Given the description of an element on the screen output the (x, y) to click on. 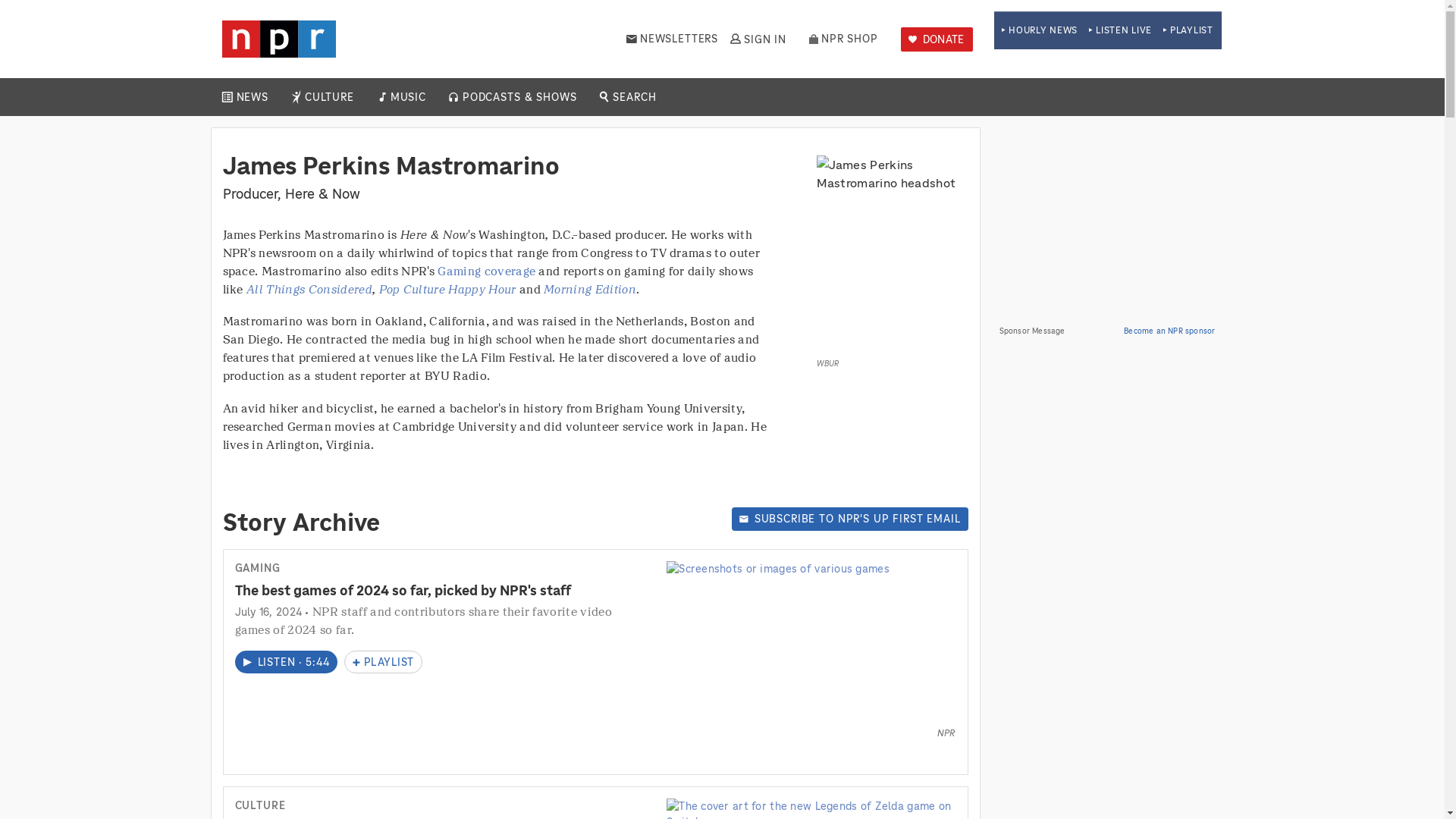
MUSIC (407, 96)
PLAYLIST (1187, 30)
NEWS (251, 96)
HOURLY NEWS (1039, 30)
DONATE (936, 39)
LISTEN LIVE (1120, 30)
CULTURE (328, 96)
NEWSLETTERS (671, 38)
NPR SHOP (843, 38)
SIGN IN (757, 38)
